Given the description of an element on the screen output the (x, y) to click on. 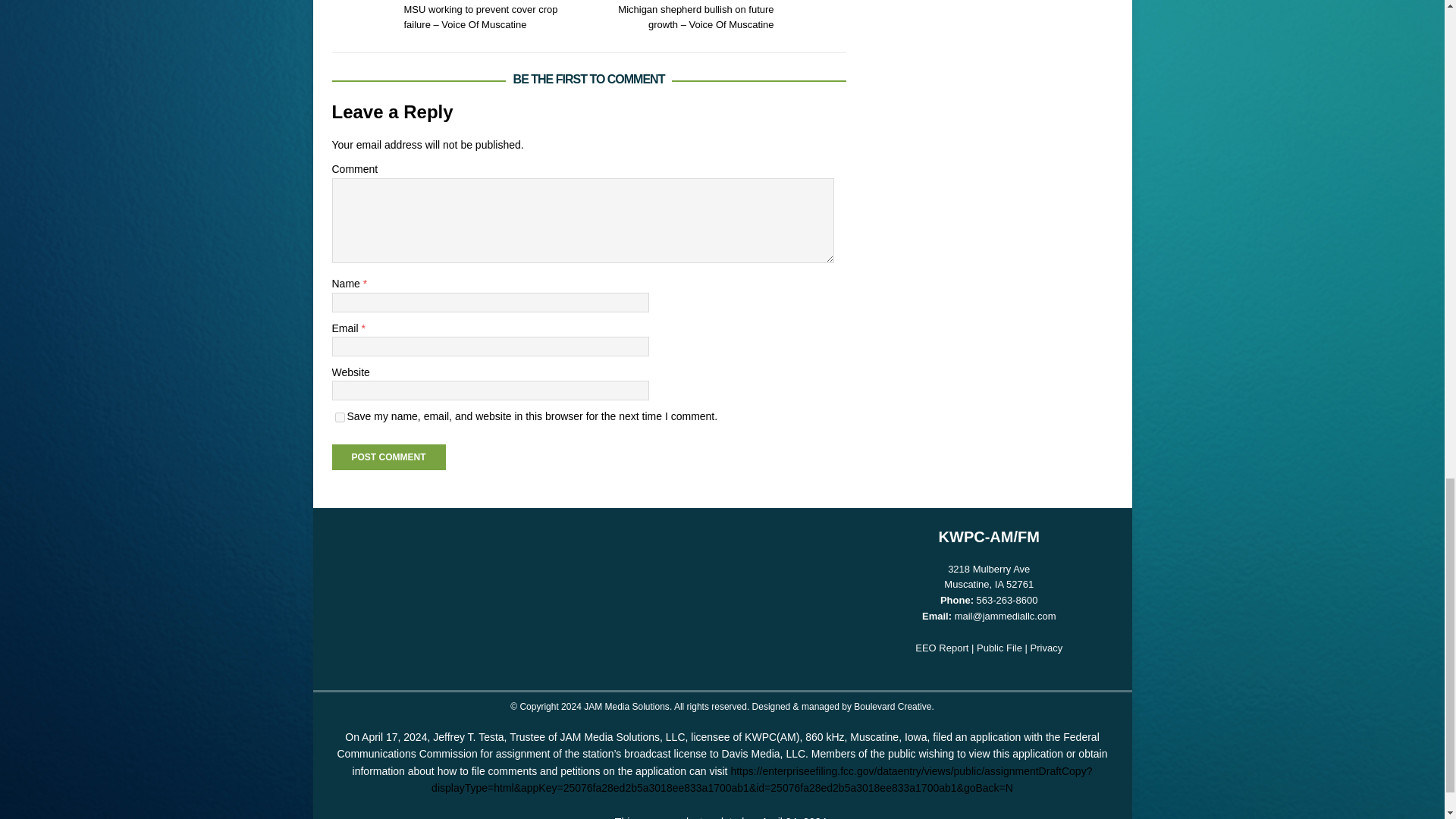
Post Comment (388, 457)
yes (339, 417)
Post Comment (388, 457)
